Given the description of an element on the screen output the (x, y) to click on. 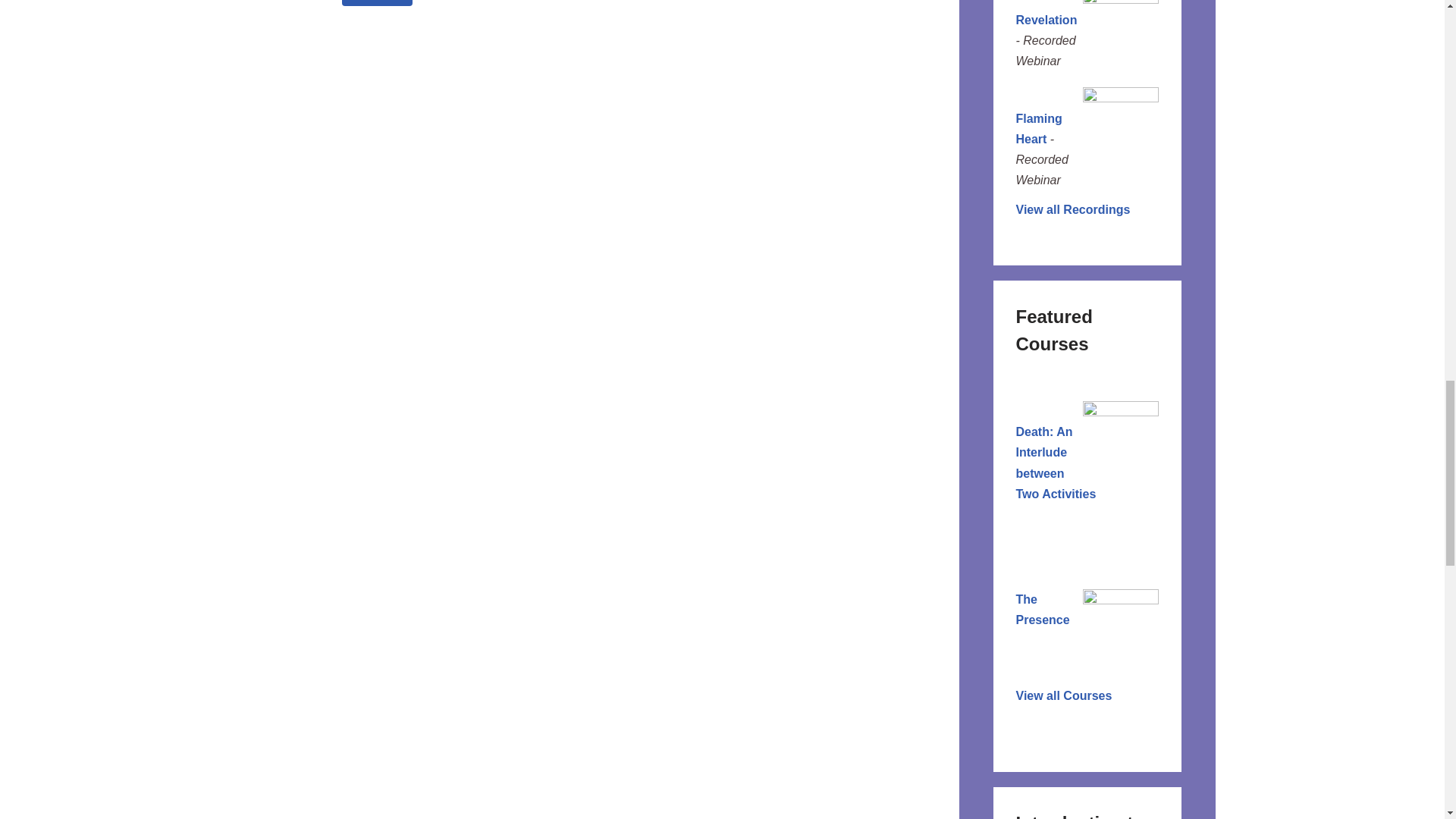
meditation (377, 2)
